Given the description of an element on the screen output the (x, y) to click on. 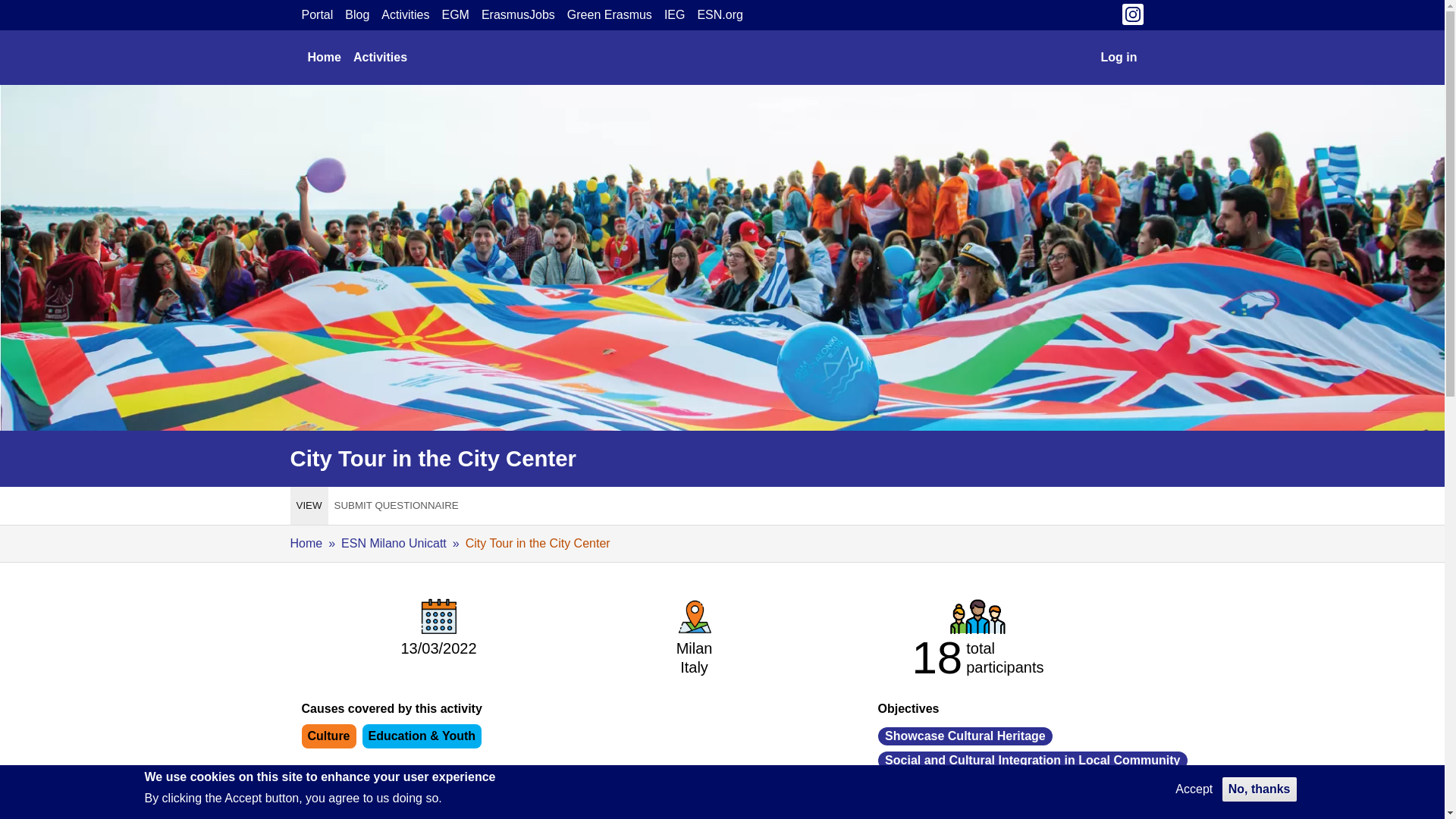
Home (324, 57)
ErasmusJobs (517, 15)
Previous (897, 813)
Green Erasmus (609, 15)
EGM (454, 15)
Next (1122, 813)
Log in (1118, 57)
SUBMIT QUESTIONNAIRE (396, 505)
ESN.org (719, 15)
Activities (405, 15)
